Given the description of an element on the screen output the (x, y) to click on. 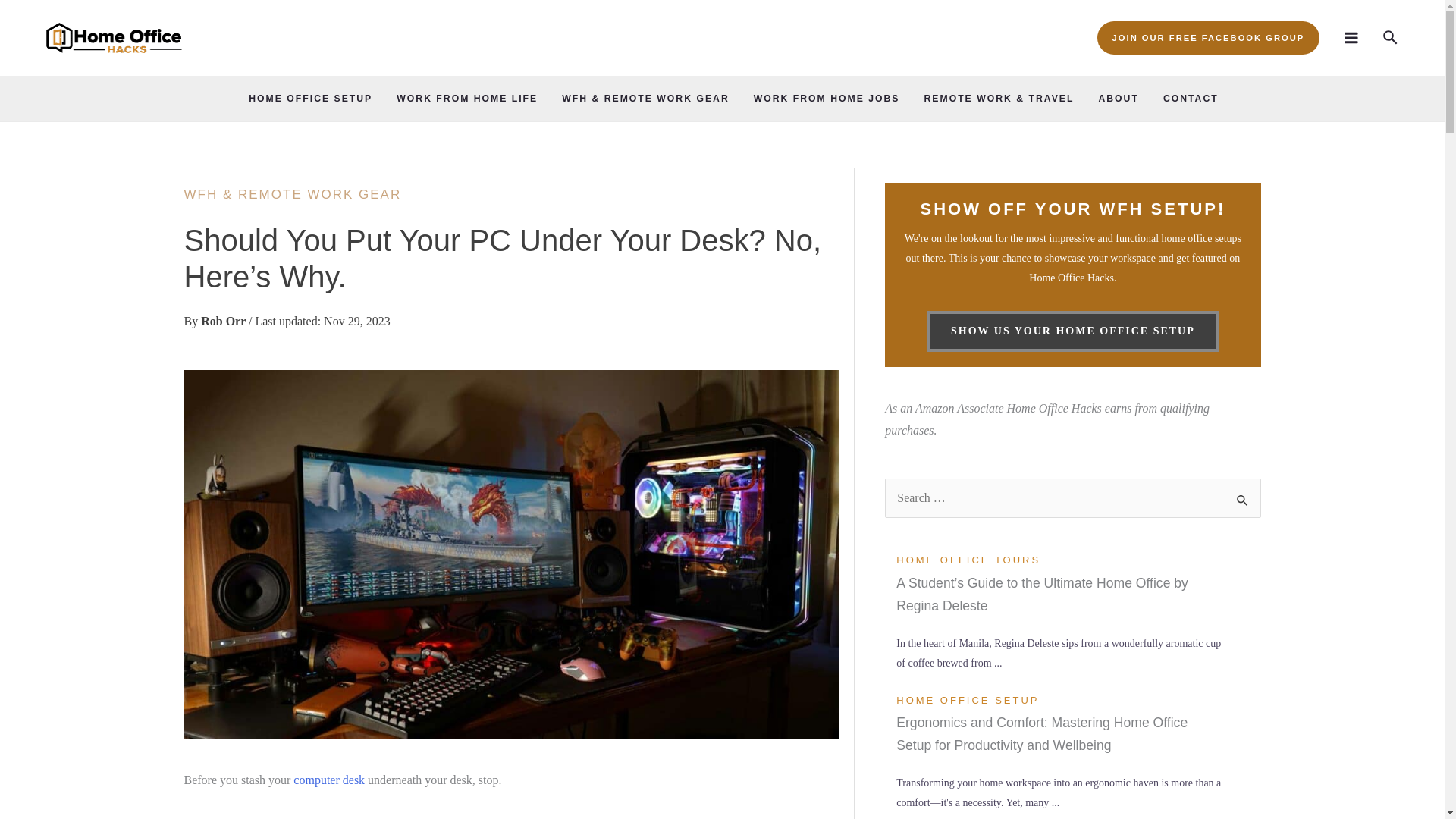
JOIN OUR FREE FACEBOOK GROUP (1208, 38)
ABOUT (1118, 98)
CONTACT (1190, 98)
HOME OFFICE SETUP (309, 98)
WORK FROM HOME LIFE (467, 98)
WORK FROM HOME JOBS (826, 98)
computer desk (327, 779)
